Given the description of an element on the screen output the (x, y) to click on. 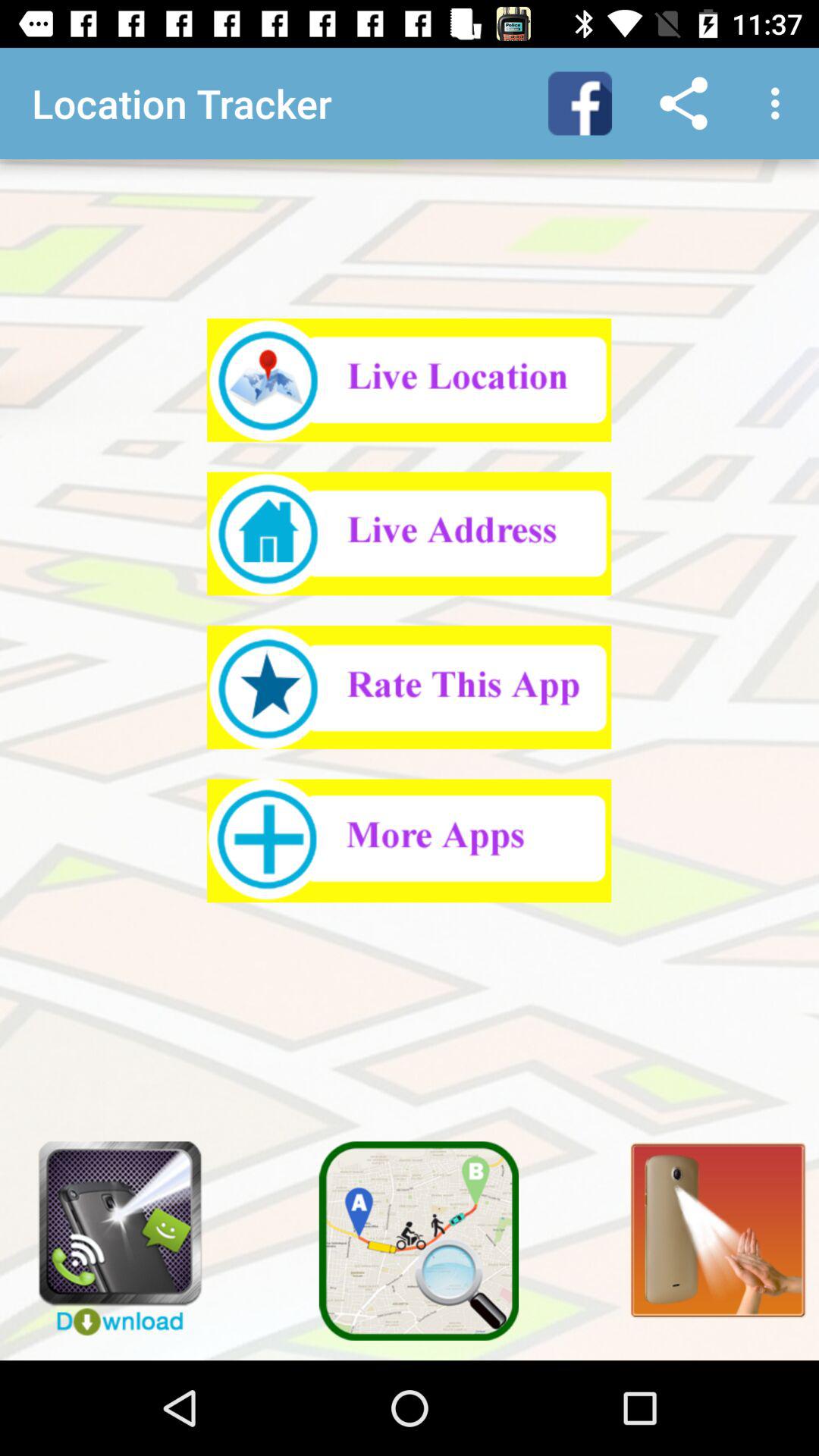
get live location (409, 379)
